Given the description of an element on the screen output the (x, y) to click on. 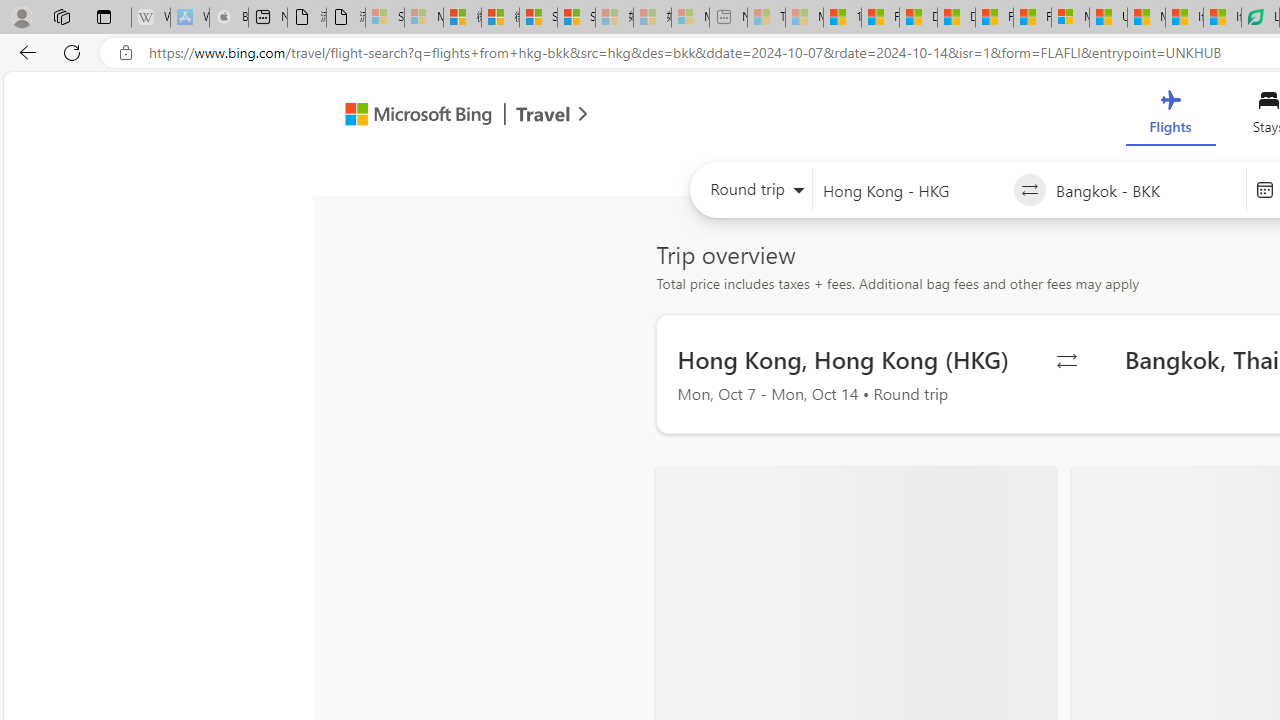
Travel (543, 116)
Flights (1170, 116)
Marine life - MSN - Sleeping (804, 17)
Microsoft Services Agreement - Sleeping (423, 17)
Top Stories - MSN - Sleeping (765, 17)
Select trip type (750, 193)
US Heat Deaths Soared To Record High Last Year (1108, 17)
Sign in to your Microsoft account - Sleeping (385, 17)
